Given the description of an element on the screen output the (x, y) to click on. 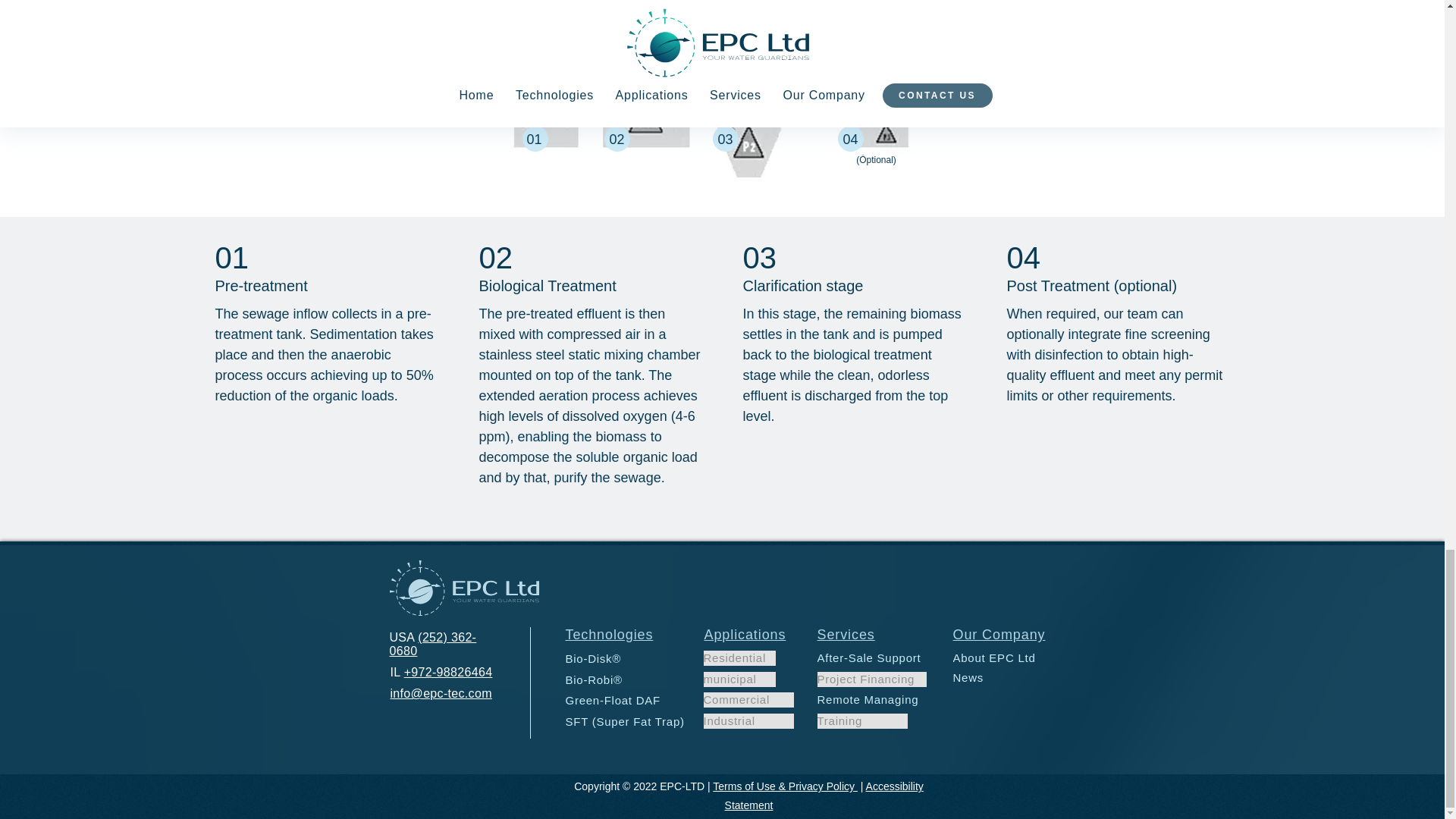
USA  (404, 636)
Residential (739, 657)
Industrial (748, 720)
About EPC Ltd (1006, 657)
municipal (739, 679)
Green-Float DAF (620, 700)
Accessibility Statement (824, 795)
Commercial (748, 699)
Training (861, 720)
After-Sale Support (871, 657)
